Given the description of an element on the screen output the (x, y) to click on. 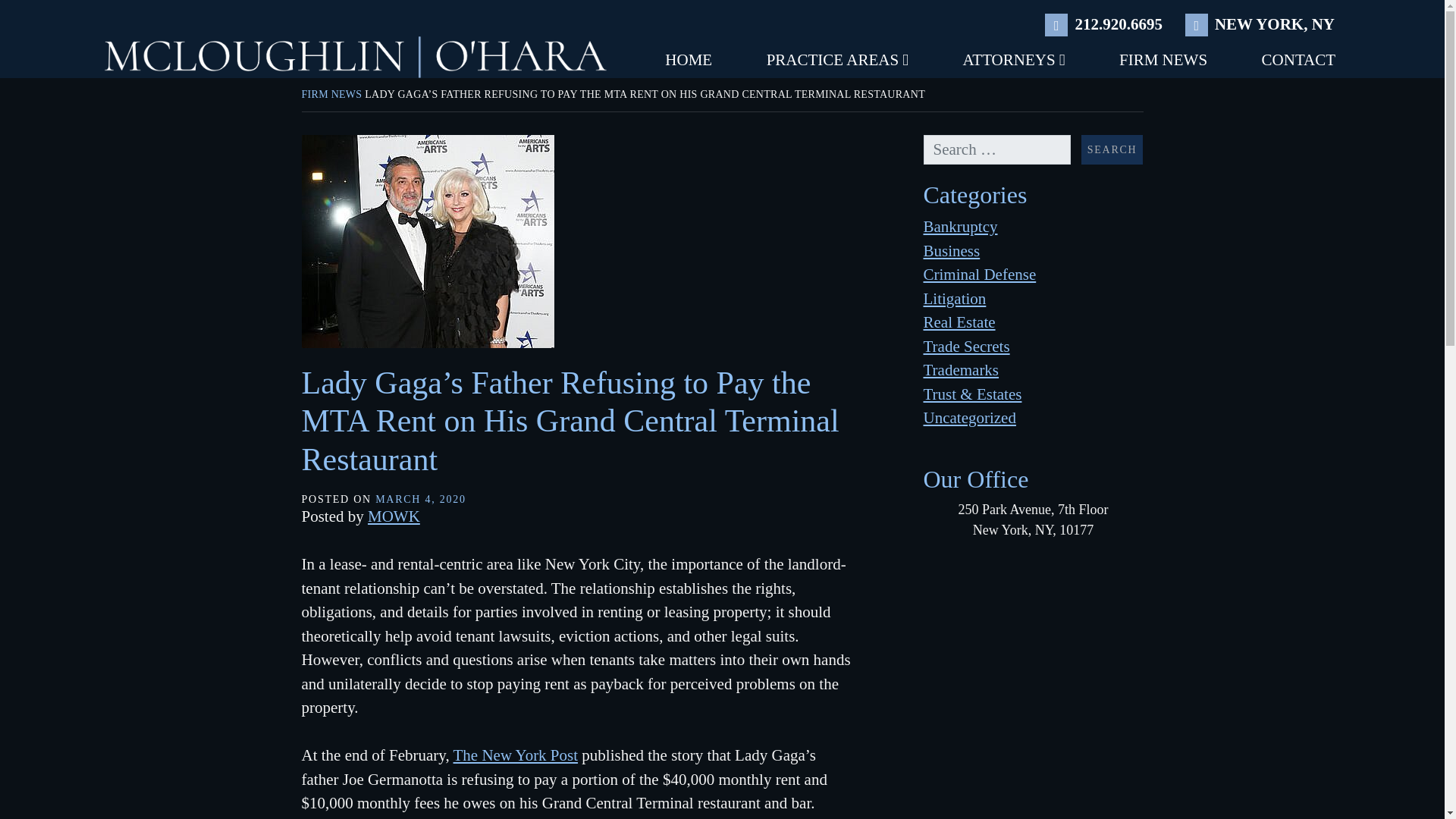
Litigation (955, 298)
Real Estate (959, 321)
Bankruptcy (960, 226)
MOWK (394, 515)
Return home (355, 56)
Business (951, 250)
Criminal Defense (979, 274)
Uncategorized (969, 417)
Search (1111, 149)
PRACTICE AREAS (837, 60)
ATTORNEYS (1013, 60)
Search (1111, 149)
Search for: (996, 149)
FIRM NEWS (1163, 60)
MARCH 4, 2020 (420, 499)
